Given the description of an element on the screen output the (x, y) to click on. 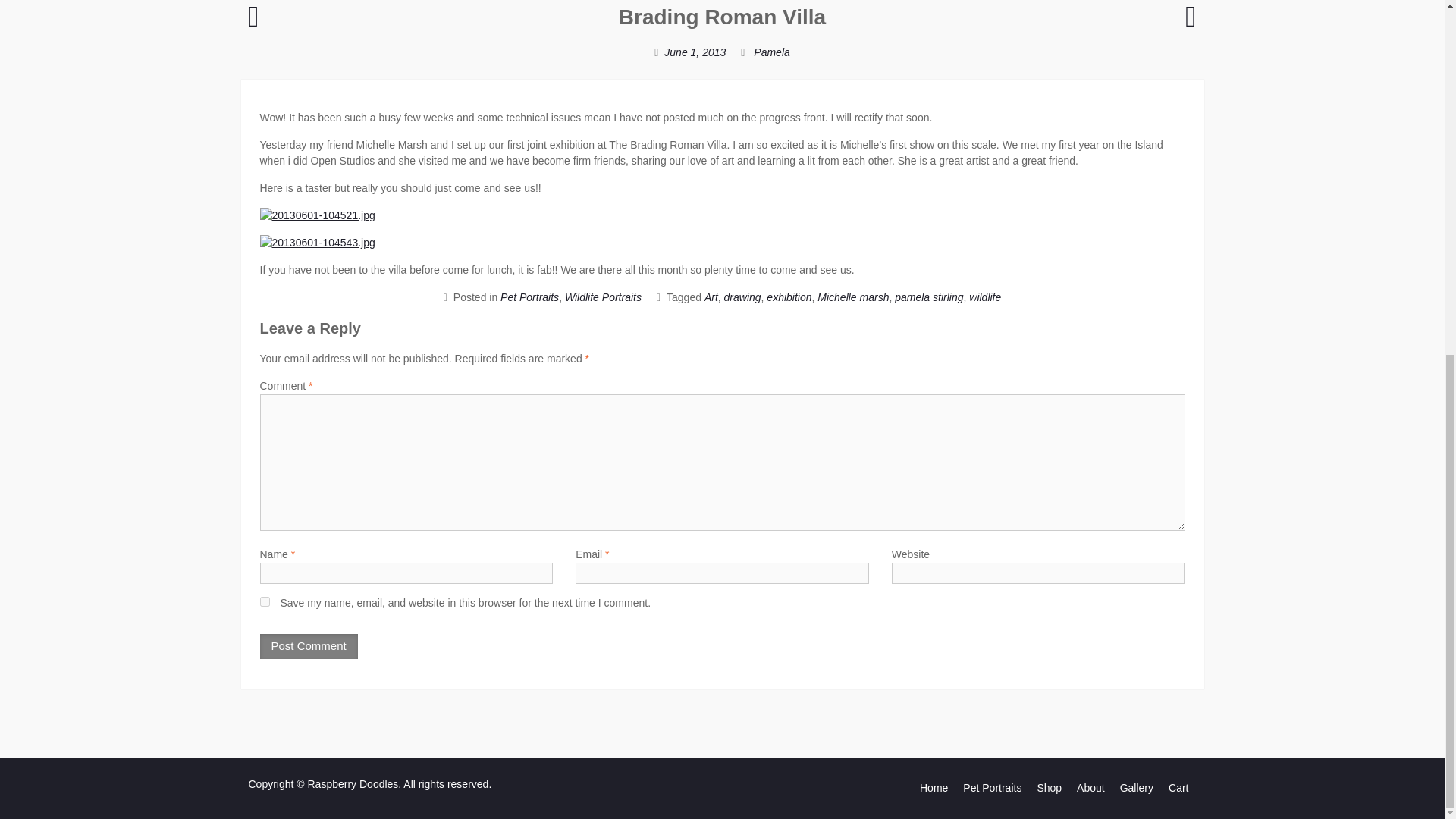
Pet Portraits (529, 297)
Post Comment (307, 646)
pamela stirling (928, 297)
Gallery (1136, 788)
Post Comment (307, 646)
Shop (1048, 788)
Art (710, 297)
Pamela (771, 51)
June 1, 2013 (694, 51)
exhibition (788, 297)
